Given the description of an element on the screen output the (x, y) to click on. 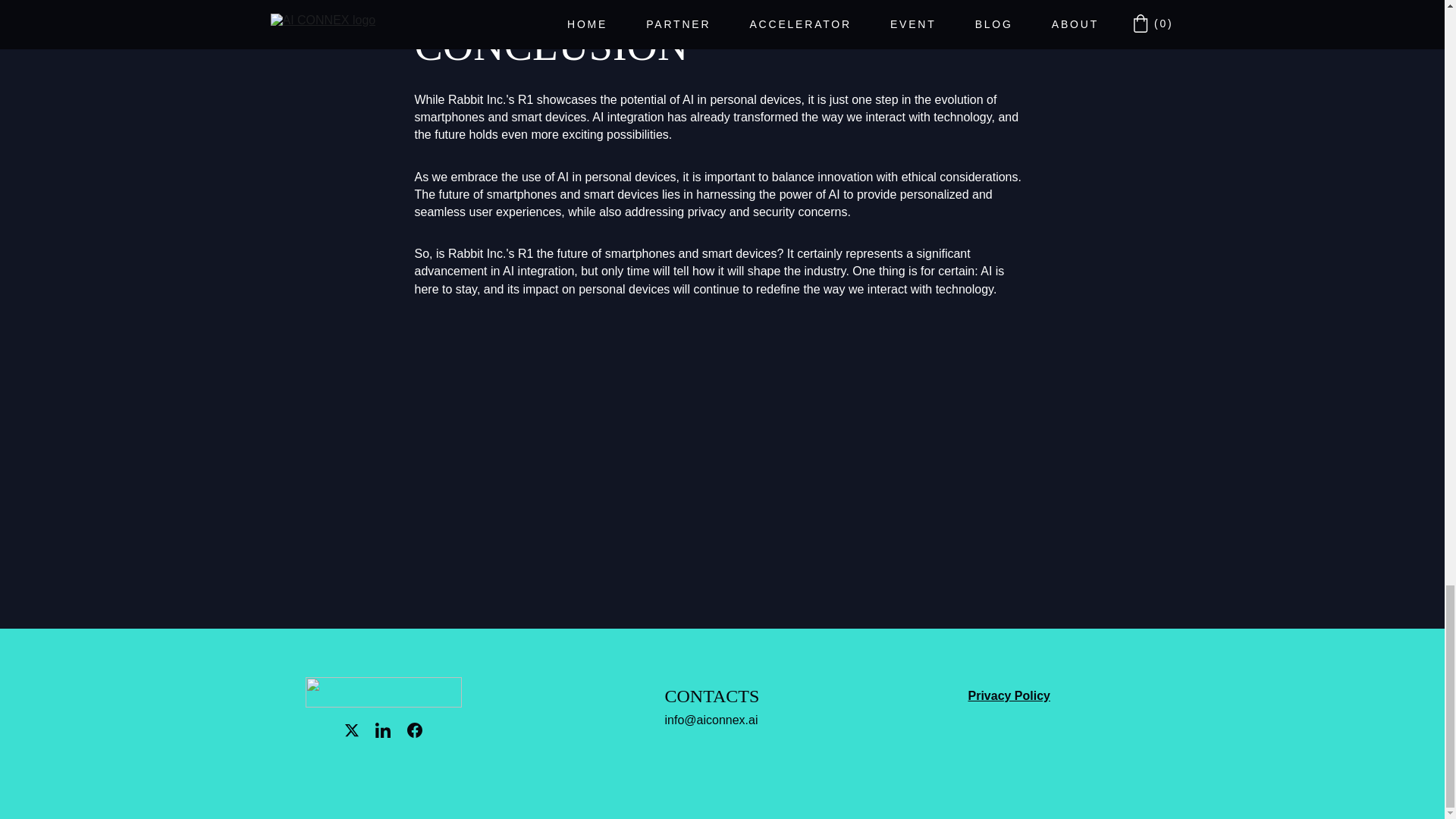
Go to Facebook page (414, 729)
Privacy Policy (1008, 695)
Go to Twitter page (351, 729)
Go to Linkedin-in page (382, 729)
